Given the description of an element on the screen output the (x, y) to click on. 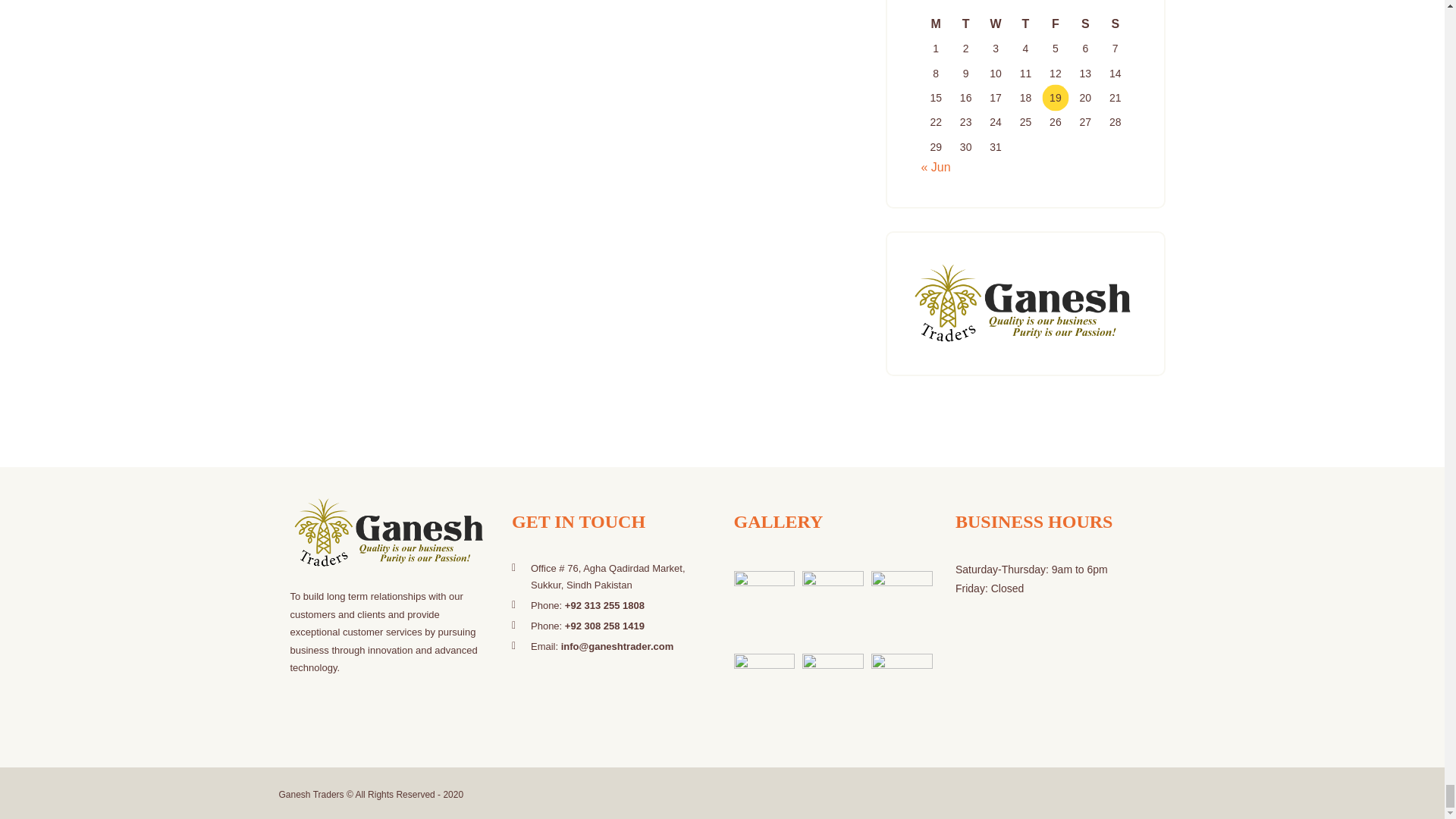
Sunday (1114, 24)
Saturday (1085, 24)
Thursday (1025, 24)
Tuesday (964, 24)
Friday (1055, 24)
Wednesday (994, 24)
Monday (935, 24)
